Given the description of an element on the screen output the (x, y) to click on. 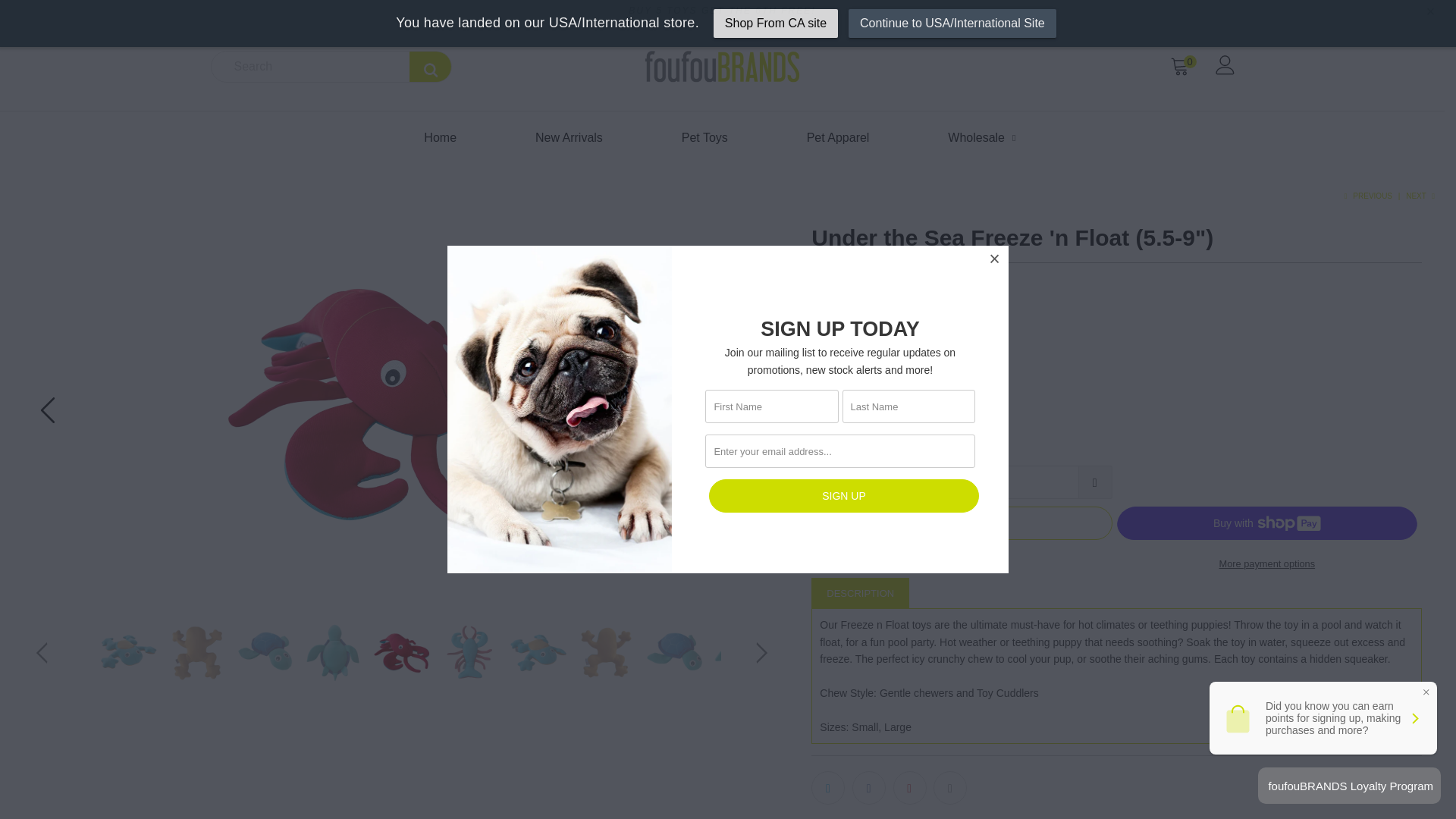
foufoubrands-usa (722, 66)
Share this on Facebook (868, 787)
Next (1421, 195)
1 (961, 482)
Email this to a friend (949, 787)
Previous (1365, 195)
My Account  (1223, 65)
Share this on Twitter (827, 787)
Sign Up (843, 495)
Share this on Pinterest (909, 787)
